Given the description of an element on the screen output the (x, y) to click on. 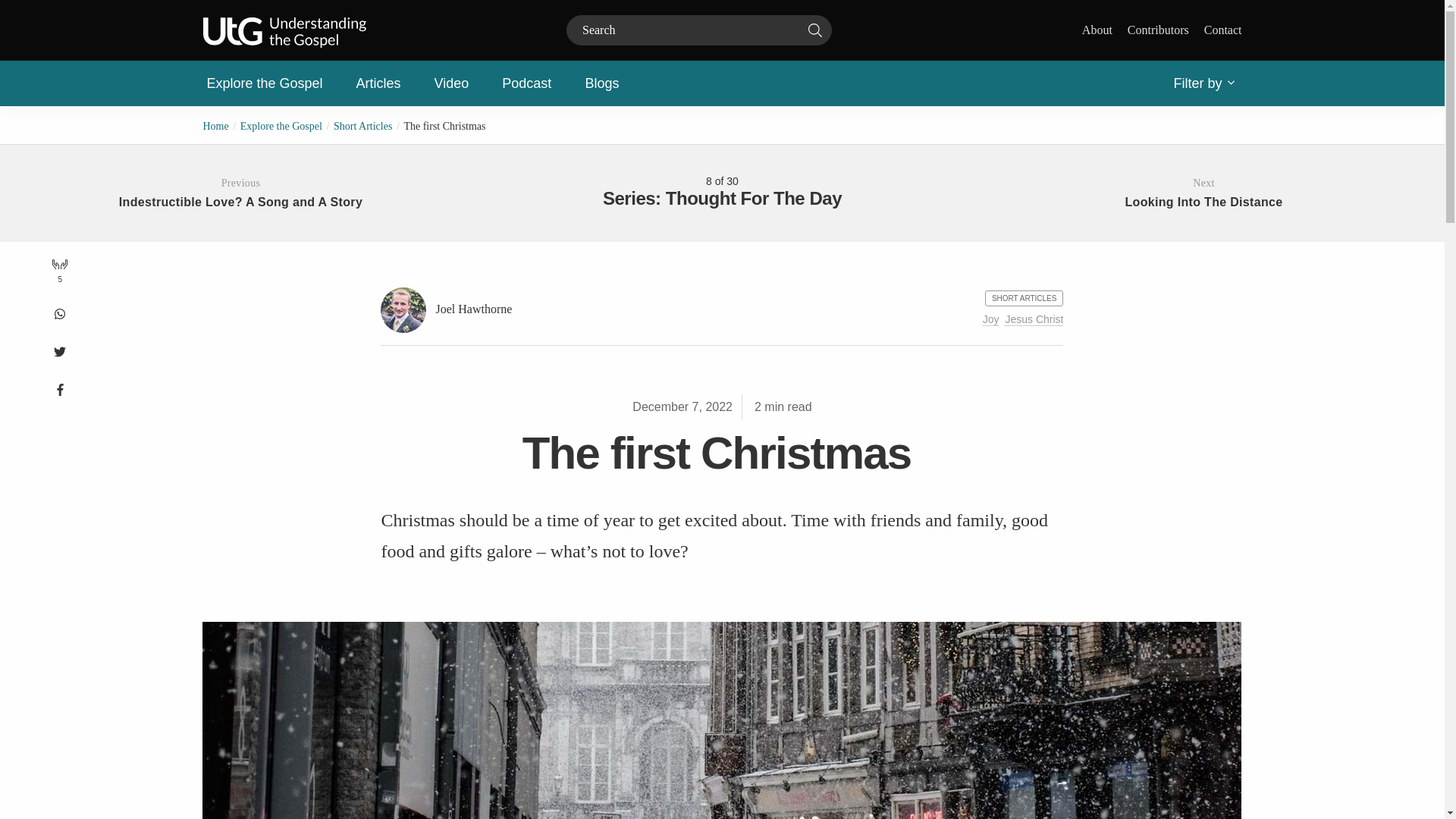
Podcast (526, 83)
Contact (1222, 30)
About (1096, 30)
Video (451, 83)
Like this article (59, 272)
Share on Whatsapp (59, 310)
Blogs (601, 83)
Explore the Gospel (263, 83)
Share on Facebook (59, 386)
Contributors (1157, 30)
Filter by (1203, 83)
Share on Twitter (59, 348)
Articles (378, 83)
